Given the description of an element on the screen output the (x, y) to click on. 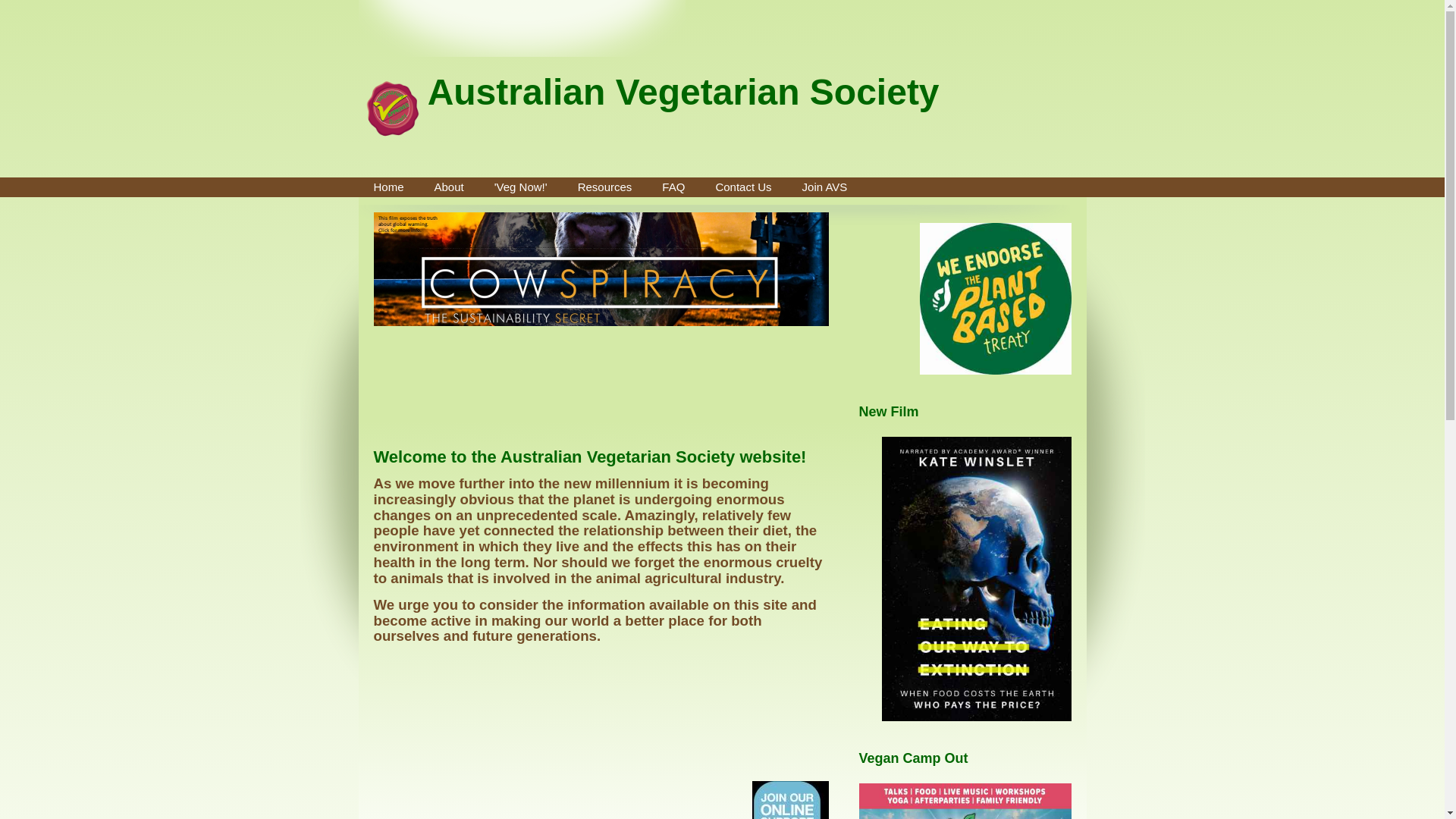
Home Element type: text (387, 187)
'Veg Now!' Element type: text (520, 187)
Contact Us Element type: text (742, 187)
FAQ Element type: text (672, 187)
About Element type: text (449, 187)
Join AVS Element type: text (824, 187)
